Given the description of an element on the screen output the (x, y) to click on. 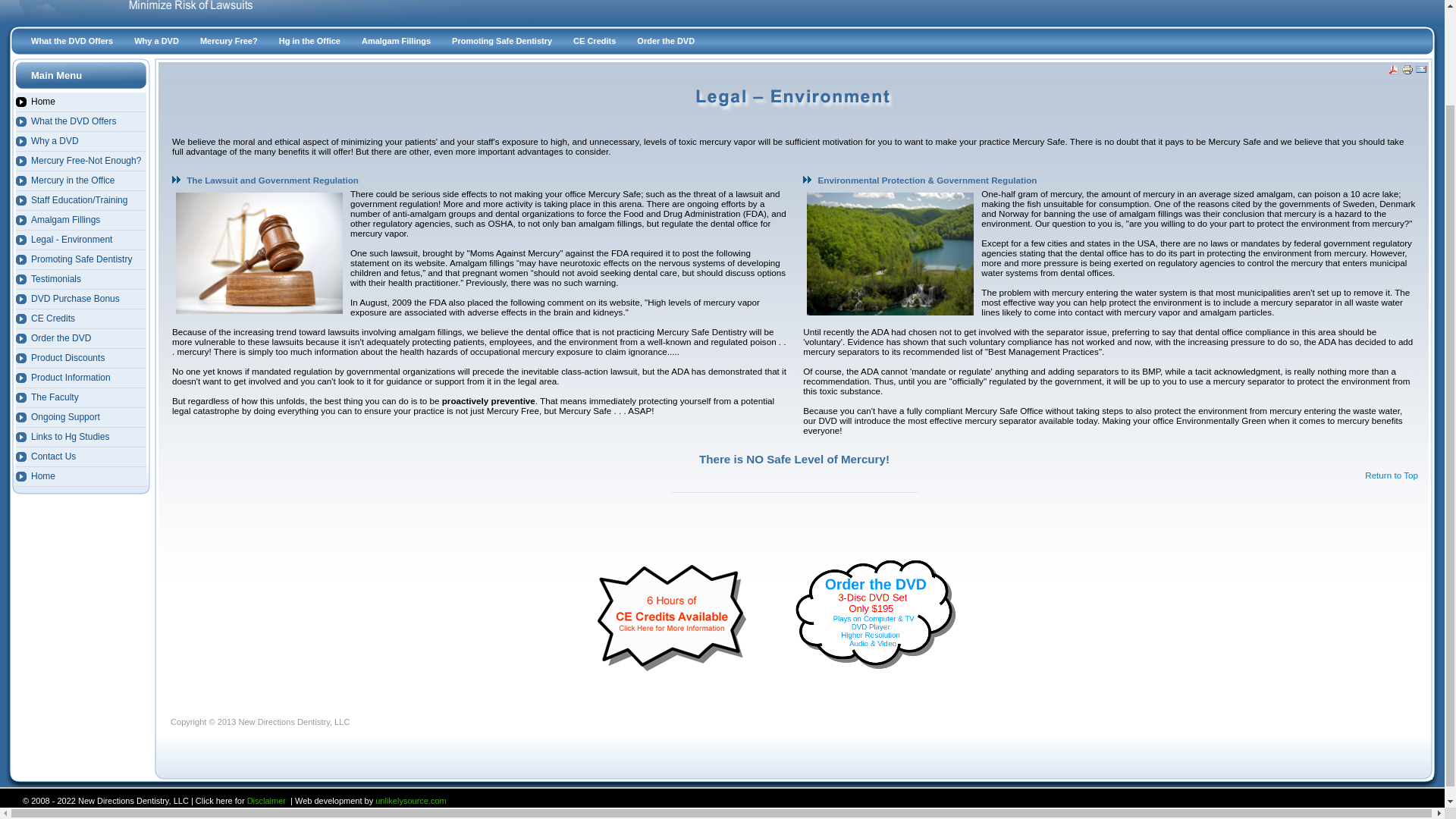
Why a DVD (81, 141)
unlikelysource.com (410, 800)
CE Credits (594, 41)
Devastating Impact of Mercury (890, 253)
What the DVD Offers (81, 121)
Product Discounts (81, 358)
CE Credits (81, 319)
Mercury Free? (228, 41)
Return to Top of Page (1391, 474)
PDF (1393, 71)
